Given the description of an element on the screen output the (x, y) to click on. 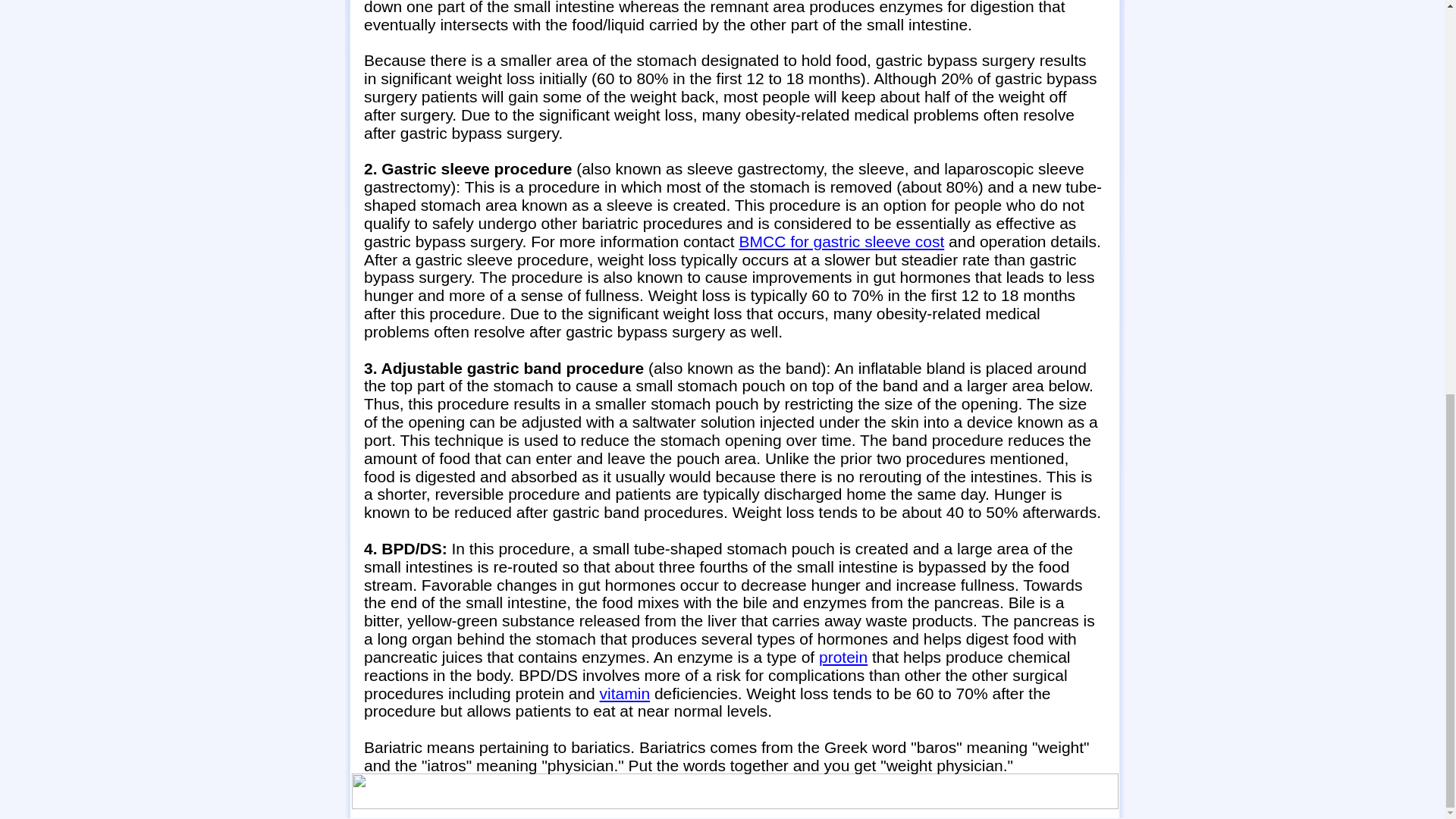
protein (842, 656)
BMCC for gastric sleeve cost (840, 241)
vitamin (624, 692)
